Given the description of an element on the screen output the (x, y) to click on. 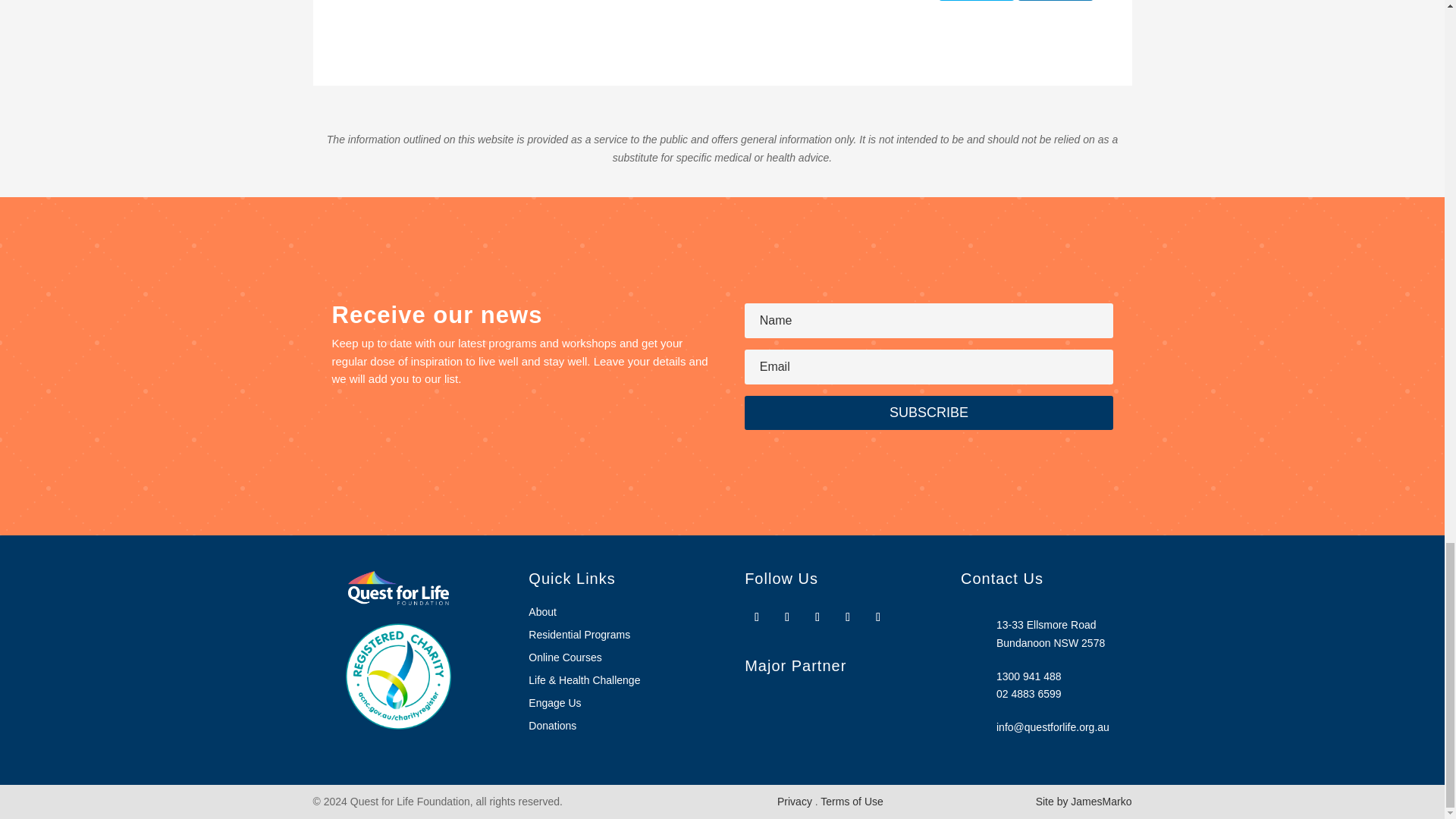
Follow on Facebook (756, 617)
Follow on Instagram (786, 617)
Follow on LinkedIn (877, 617)
Follow on Youtube (847, 617)
Follow on X (817, 617)
